Given the description of an element on the screen output the (x, y) to click on. 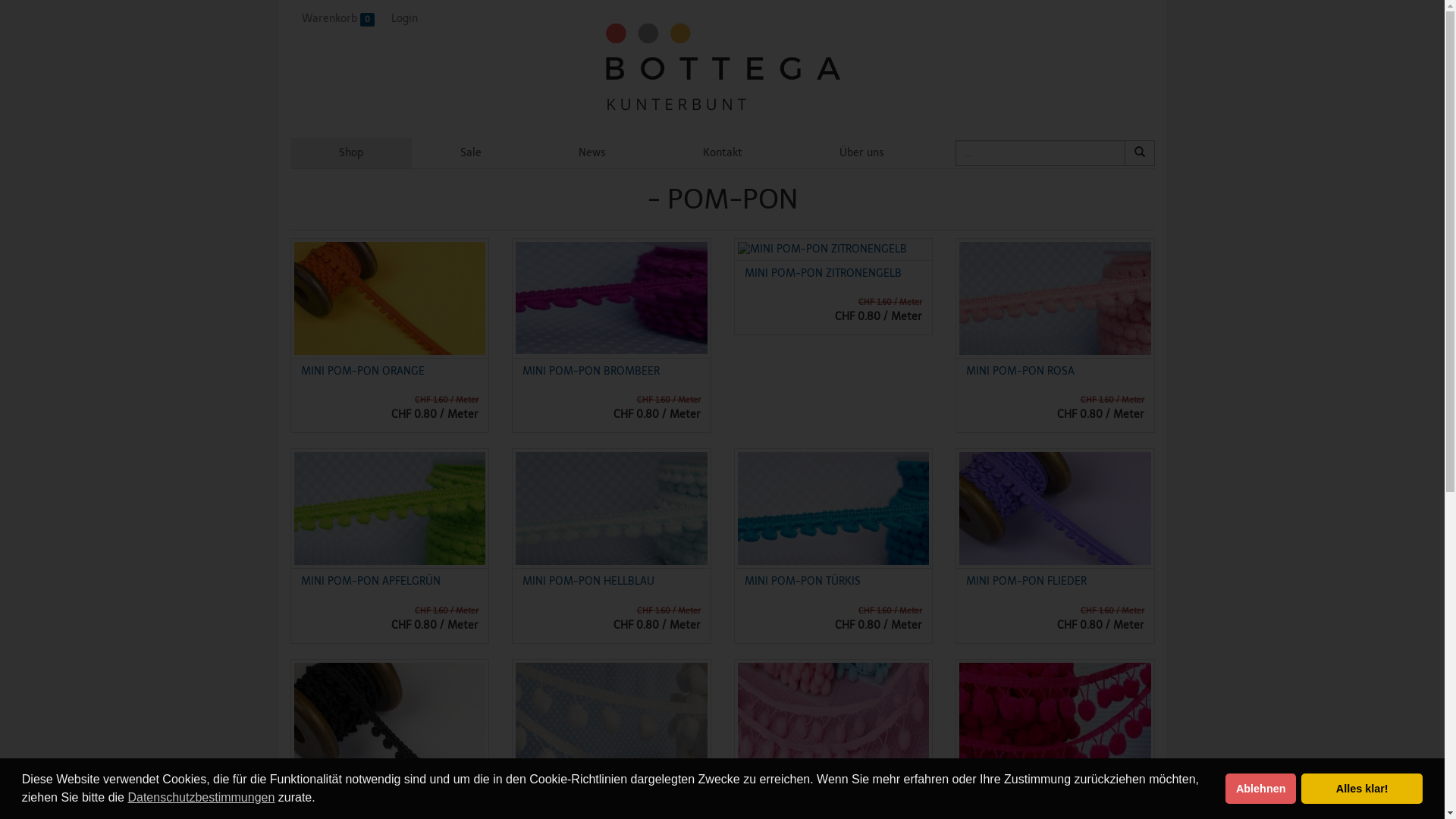
Kontakt Element type: text (722, 153)
POM-PON ROSA Element type: text (785, 791)
Login Element type: text (401, 18)
News Element type: text (592, 153)
MINI POM-PON FLIEDER Element type: text (1026, 580)
Sale Element type: text (470, 153)
Datenschutzbestimmungen Element type: text (200, 797)
Ablehnen Element type: text (1260, 788)
Warenkorb 0 Element type: text (334, 18)
Shop Element type: text (350, 153)
Alles klar! Element type: text (1361, 788)
POM-PON PINK Element type: text (1005, 791)
POM-PON WEISS Element type: text (565, 791)
MINI POM-PON ORANGE Element type: text (361, 370)
MINI POM-PON ROSA Element type: text (1020, 370)
MINI POM-PON HELLBLAU Element type: text (588, 580)
MINI POM-PON BROMBEER Element type: text (590, 370)
MINI POM-PON SCHWARZ Element type: text (365, 791)
MINI POM-PON ZITRONENGELB Element type: text (822, 272)
